Given the description of an element on the screen output the (x, y) to click on. 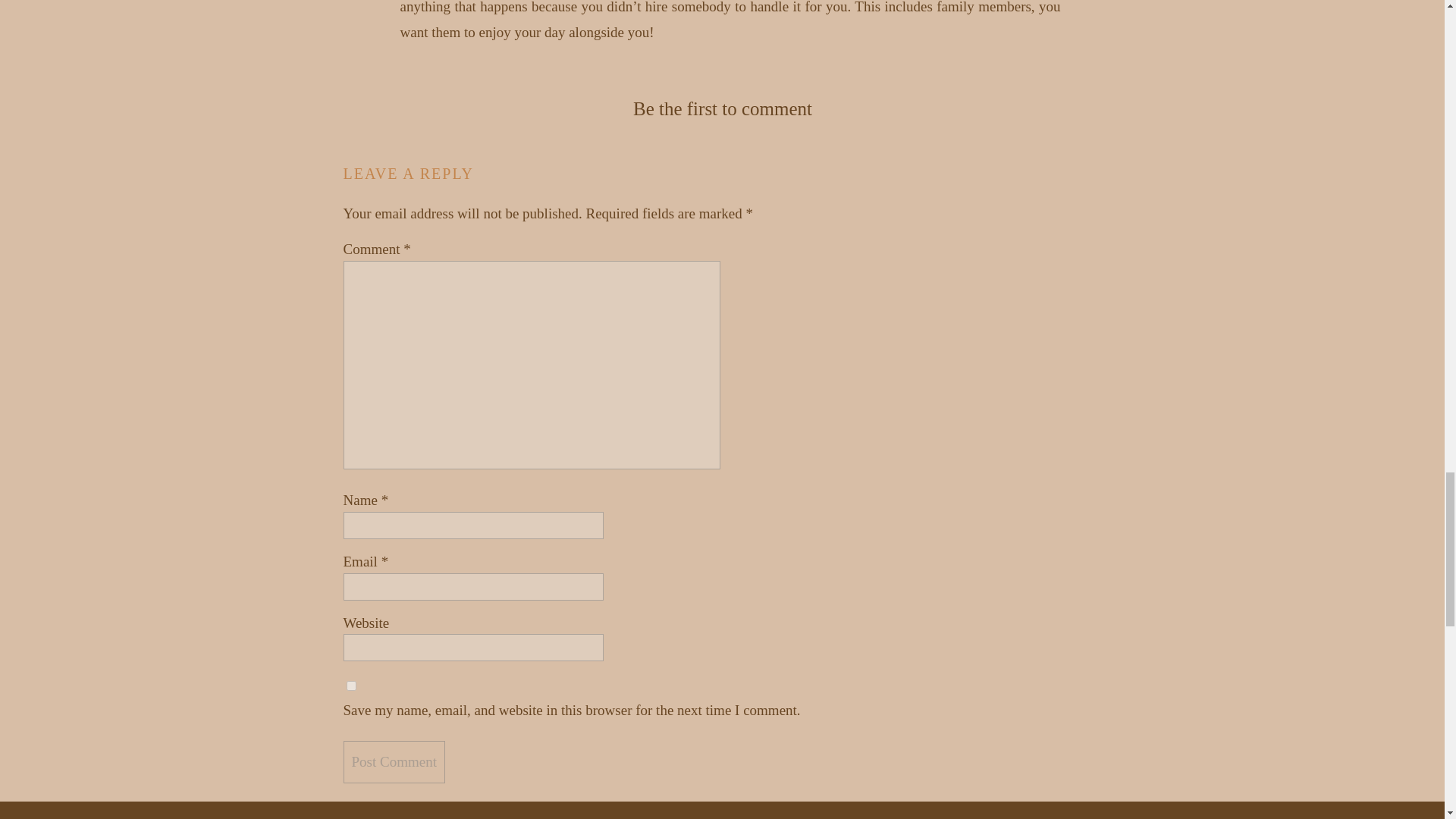
Post Comment (393, 761)
yes (350, 685)
Post Comment (393, 761)
Be the first to comment (722, 108)
